Given the description of an element on the screen output the (x, y) to click on. 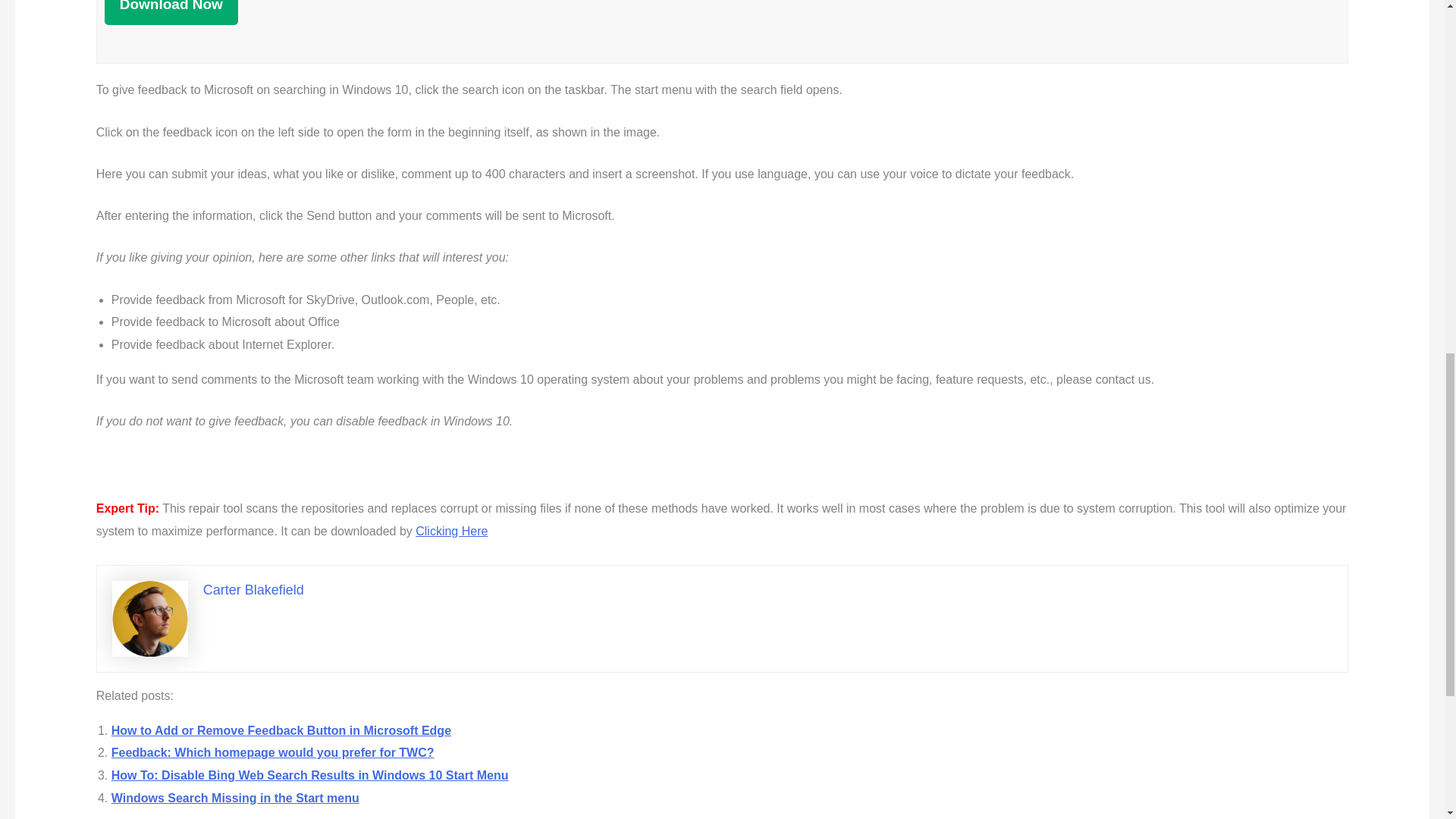
Windows Search Missing in the Start menu (235, 797)
Carter Blakefield (253, 589)
Feedback: Which homepage would you prefer for TWC? (272, 752)
Feedback: Which homepage would you prefer for TWC? (272, 752)
Clicking Here (450, 530)
Windows Search Missing in the Start menu (235, 797)
Download Now (171, 12)
How to Add or Remove Feedback Button in Microsoft Edge (281, 730)
How to Add or Remove Feedback Button in Microsoft Edge (281, 730)
